Given the description of an element on the screen output the (x, y) to click on. 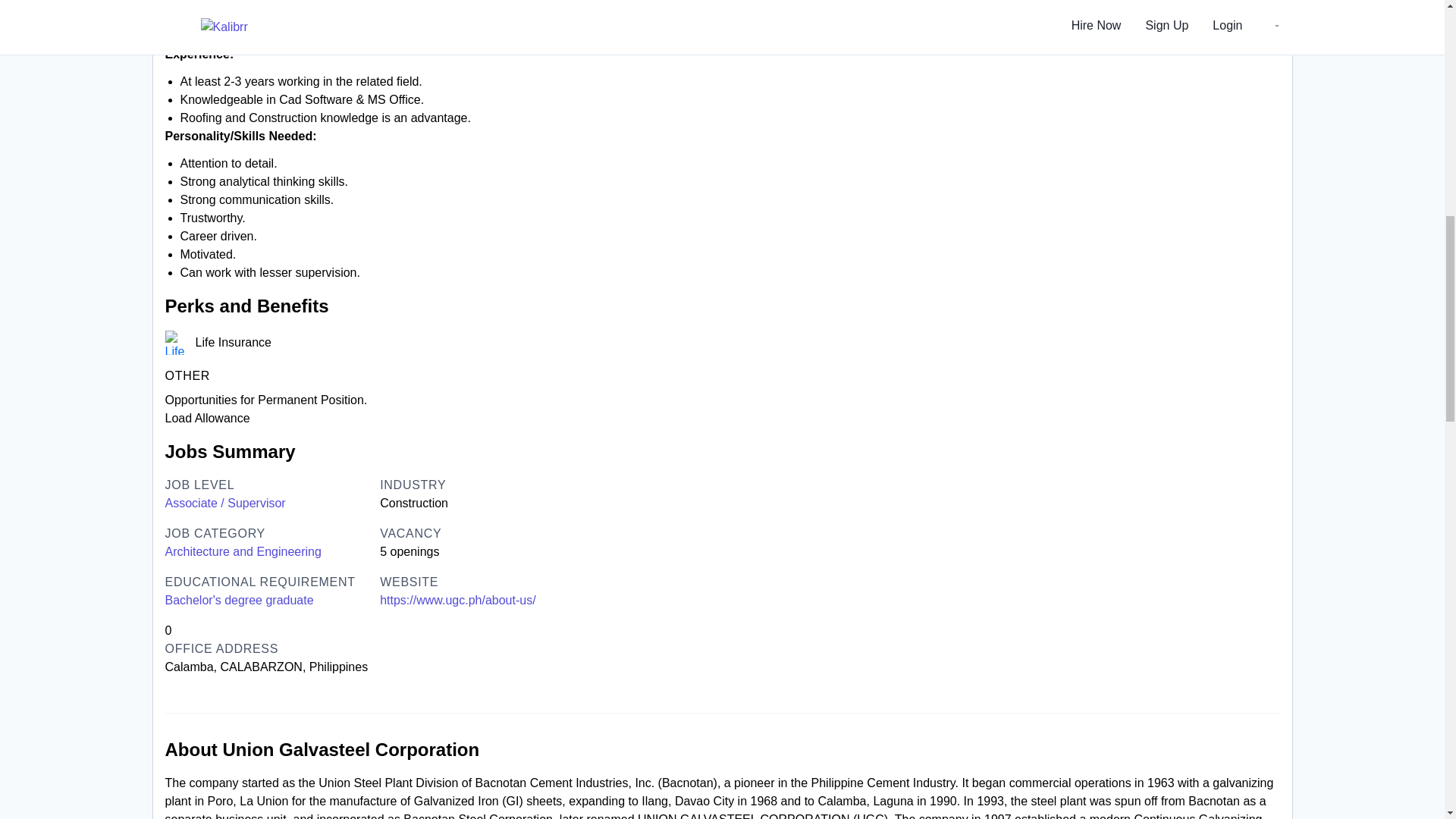
Architecture and Engineering (243, 551)
Bachelor's degree graduate (239, 600)
